Given the description of an element on the screen output the (x, y) to click on. 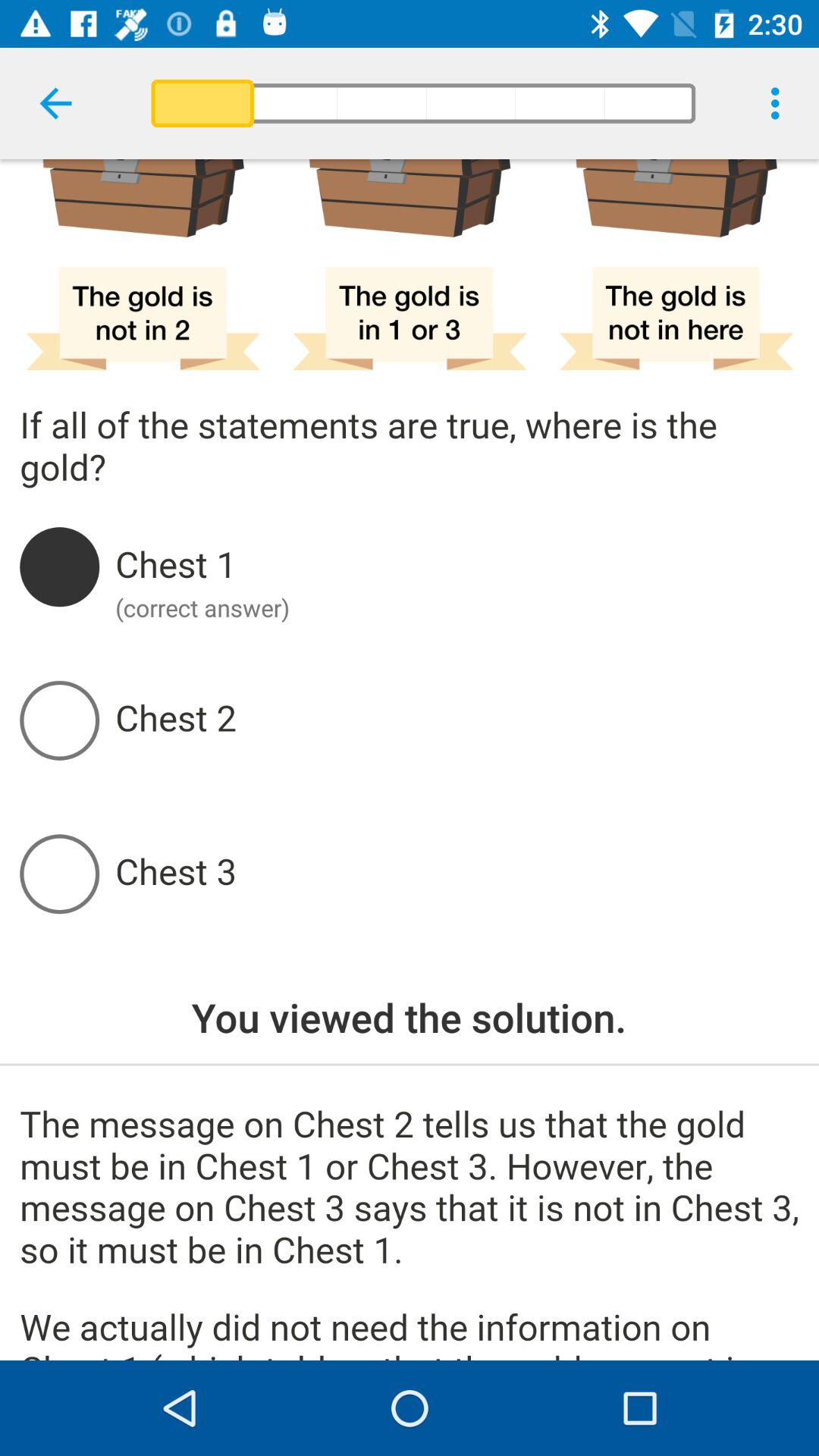
option button (457, 566)
